Given the description of an element on the screen output the (x, y) to click on. 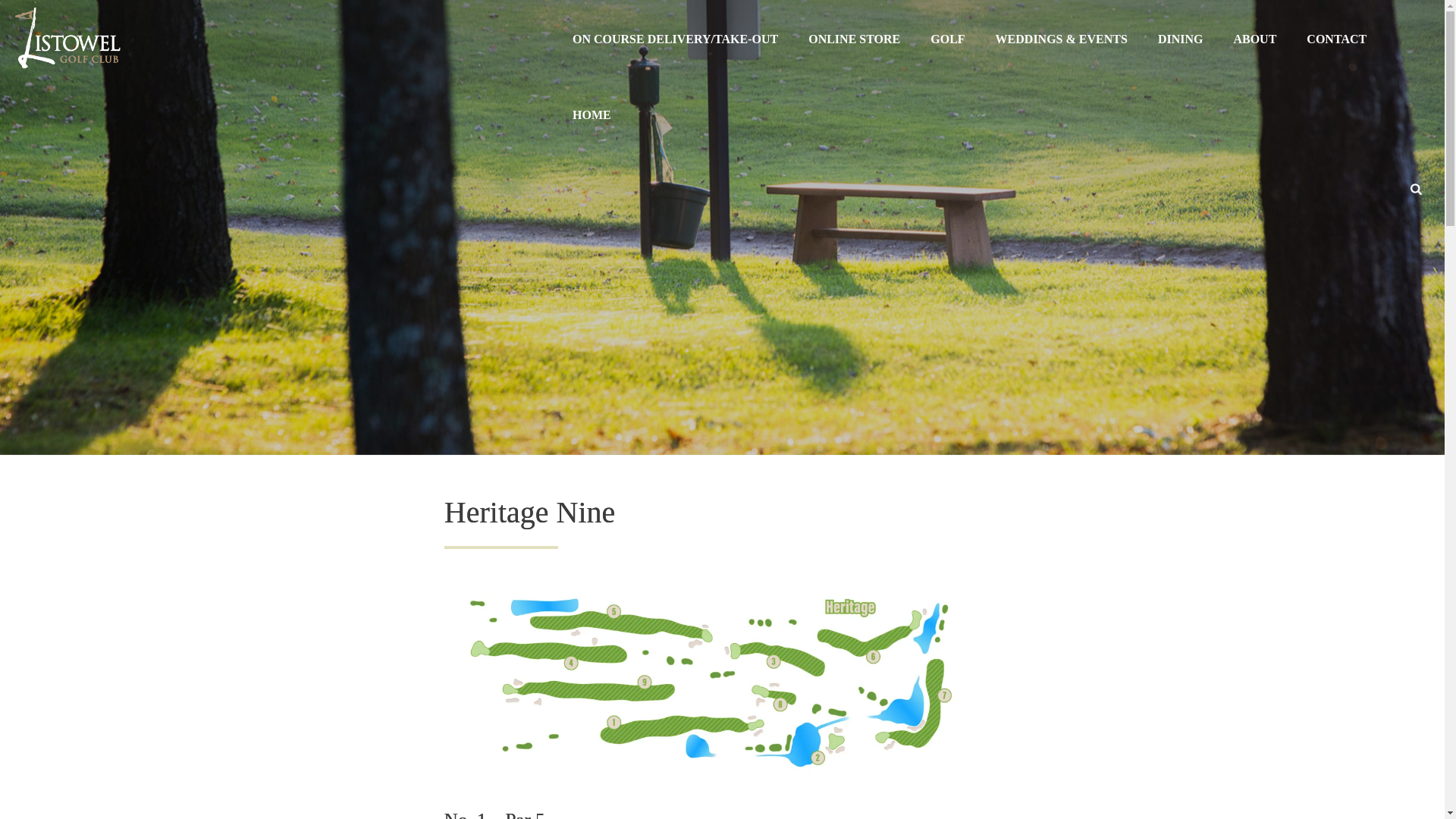
ABOUT (1254, 38)
DINING (1180, 38)
ABOUT (1254, 38)
CONTACT (1336, 38)
HOME (591, 113)
HOME (591, 113)
ONLINE STORE (854, 38)
DINING (1180, 38)
Listowel Heritage Nine (710, 682)
ONLINE STORE (854, 38)
